Given the description of an element on the screen output the (x, y) to click on. 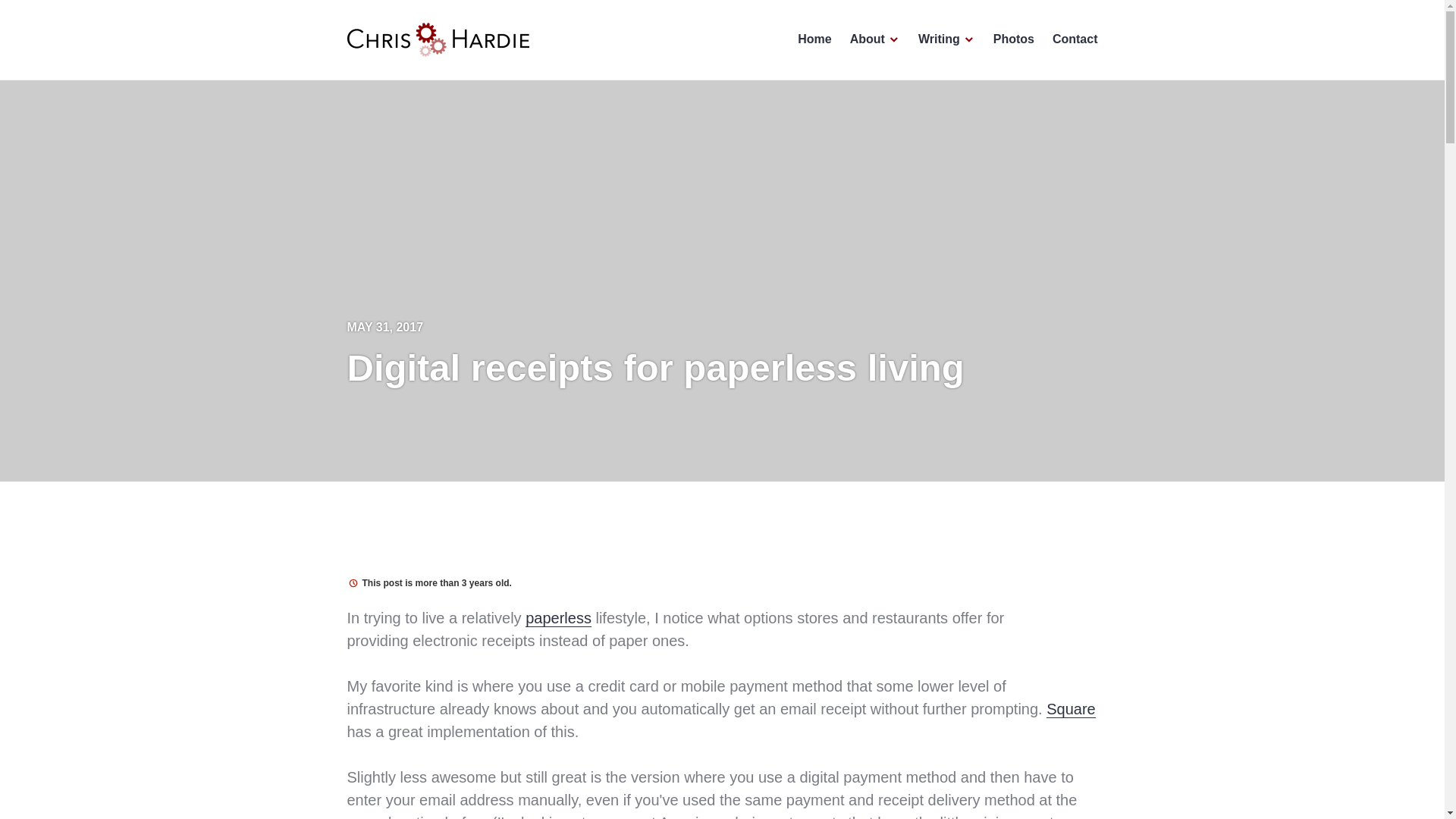
Square (1071, 709)
Photos (1012, 40)
paperless (558, 617)
About (874, 40)
Chris Hardie (403, 77)
Contact (1074, 40)
Writing (946, 40)
MAY 31, 2017 (385, 327)
Home (814, 40)
